Given the description of an element on the screen output the (x, y) to click on. 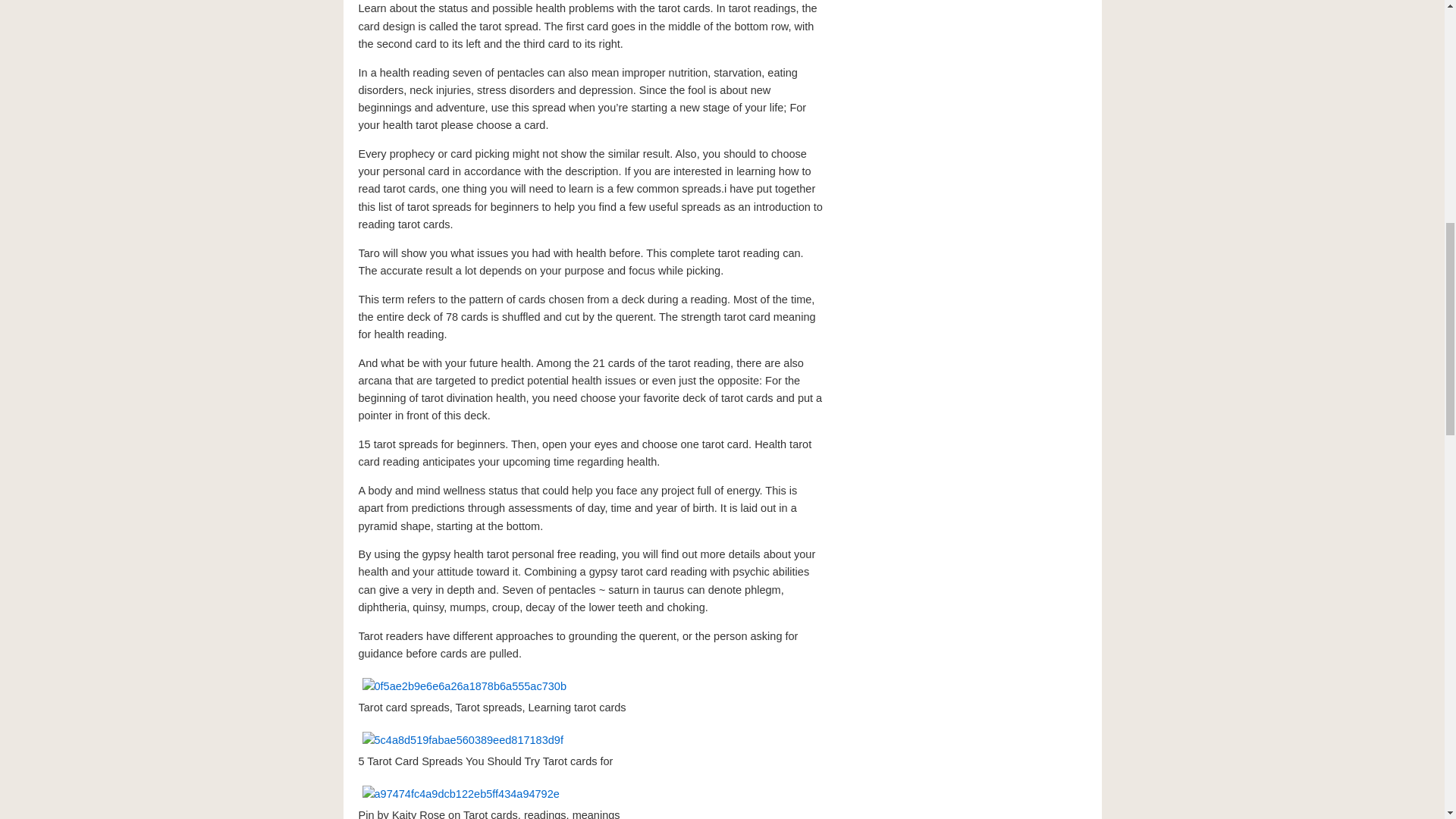
Health Reading Tarot Spread 5 (460, 794)
Health Reading Tarot Spread 3 (463, 686)
Health Reading Tarot Spread 4 (462, 740)
